Given the description of an element on the screen output the (x, y) to click on. 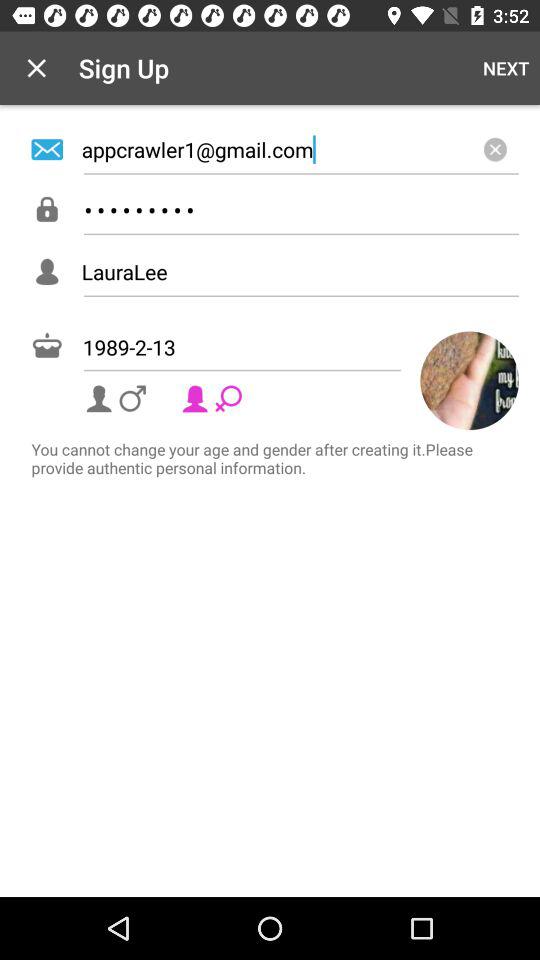
click on the first  mail image text field (269, 148)
select the close icon which is below the next option (494, 148)
select a female icon which is above 2 line text (214, 398)
click the male icon (117, 398)
click on lauralee (300, 272)
go to next (506, 68)
